Given the description of an element on the screen output the (x, y) to click on. 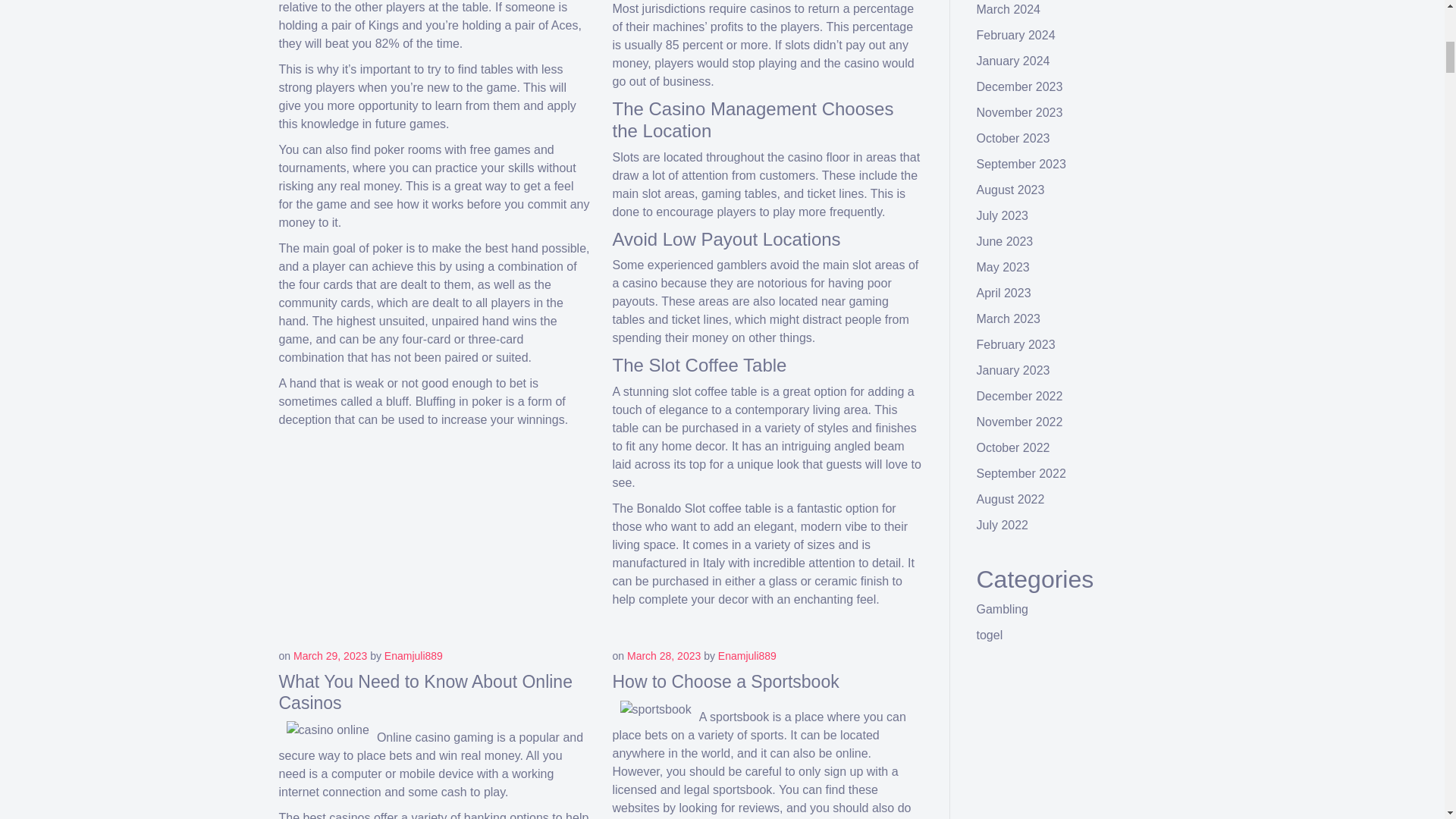
March 29, 2023 (330, 655)
Enamjuli889 (746, 655)
What You Need to Know About Online Casinos (425, 691)
Enamjuli889 (413, 655)
March 28, 2023 (663, 655)
How to Choose a Sportsbook (726, 681)
